Given the description of an element on the screen output the (x, y) to click on. 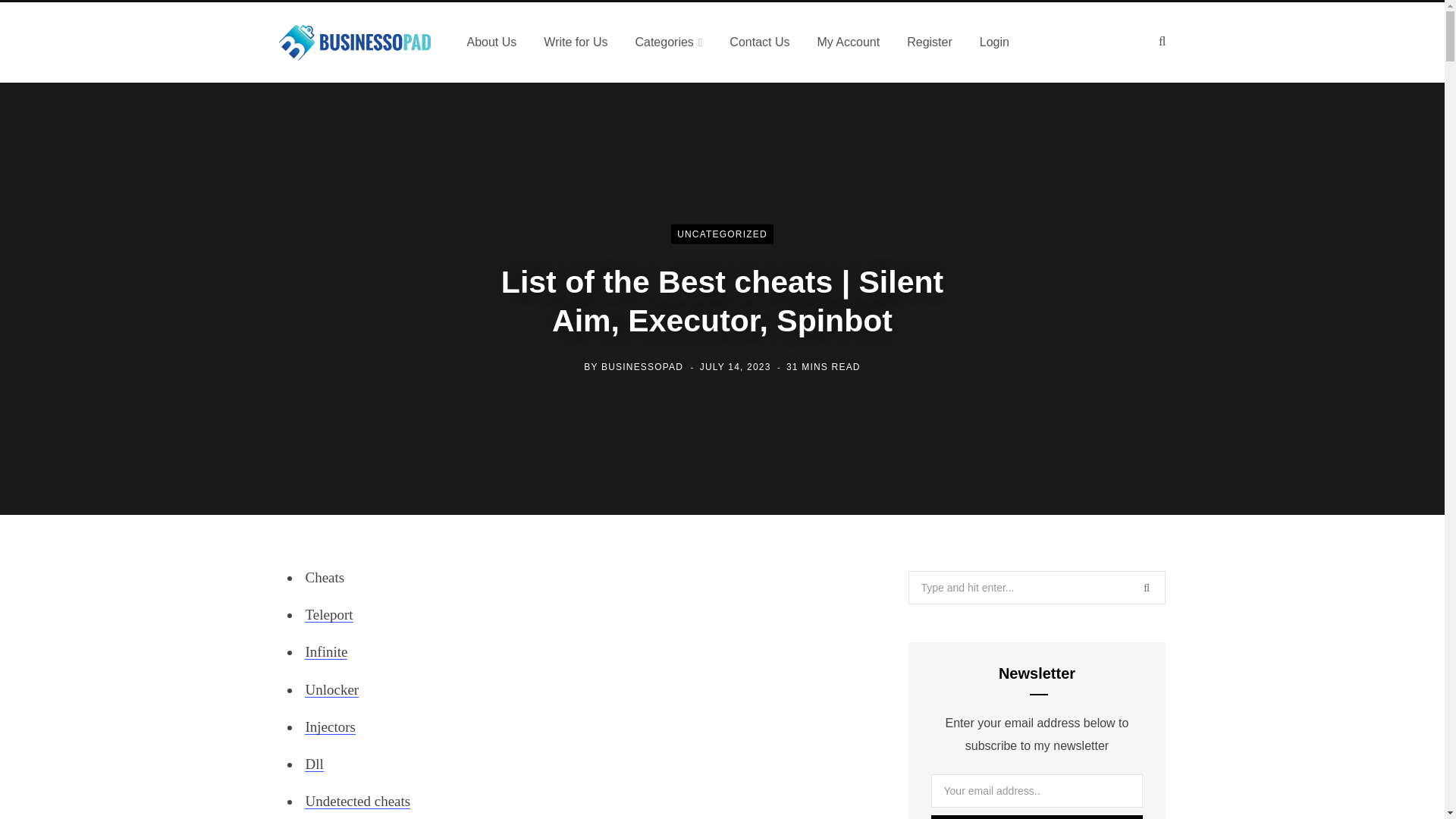
Unlocker (331, 689)
Undetected cheats (357, 801)
Register (929, 41)
Login (994, 41)
Infinite (325, 651)
Dll (313, 763)
Injectors (329, 726)
Write for Us (575, 41)
Categories (668, 41)
About Us (491, 41)
